Given the description of an element on the screen output the (x, y) to click on. 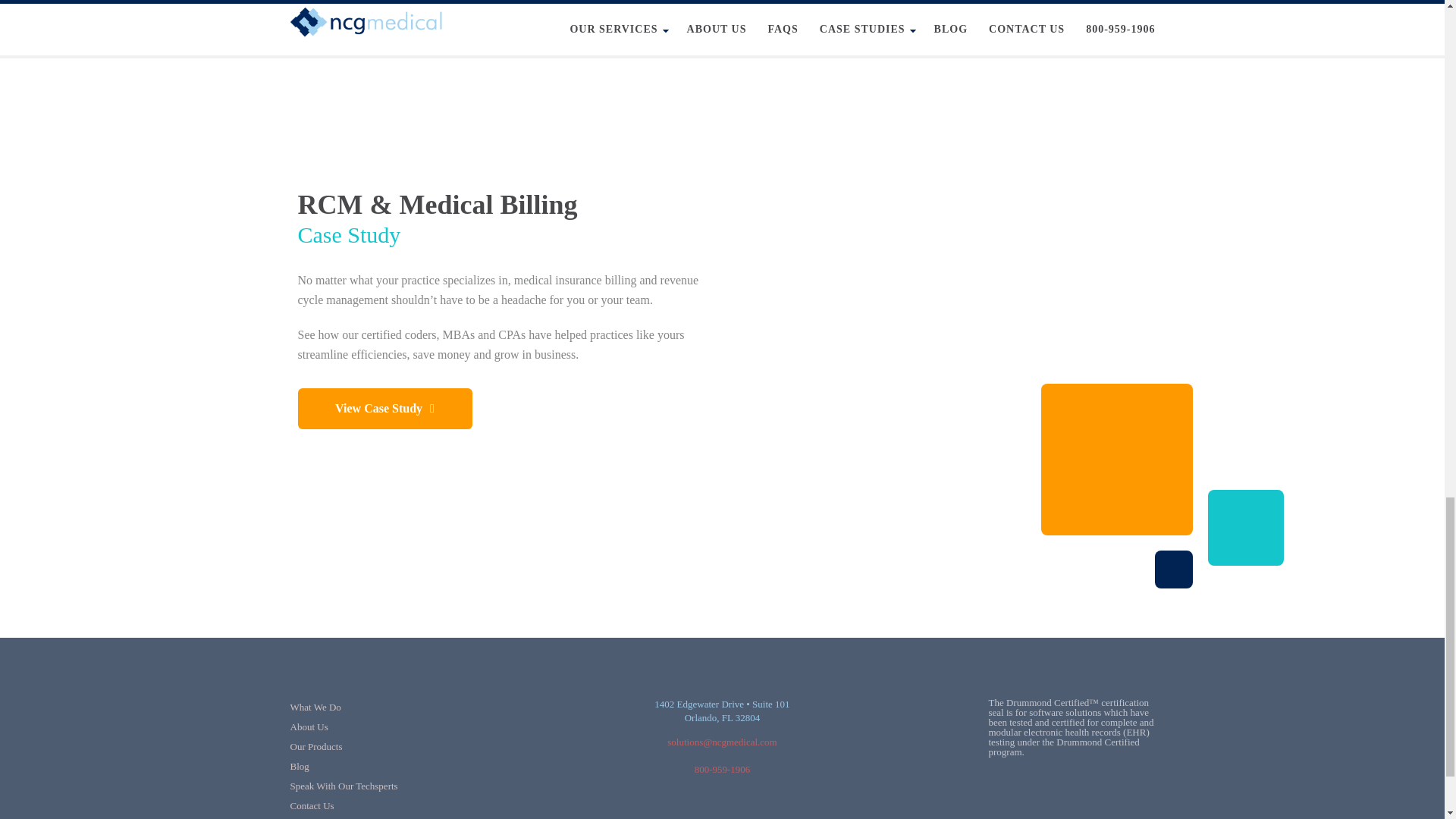
Speak With Our Techsperts (343, 785)
Blog (298, 766)
View Case Study (384, 408)
Contact Us (311, 805)
What We Do (314, 706)
Our Products (315, 746)
About Us (308, 726)
800-959-1906 (722, 768)
